Given the description of an element on the screen output the (x, y) to click on. 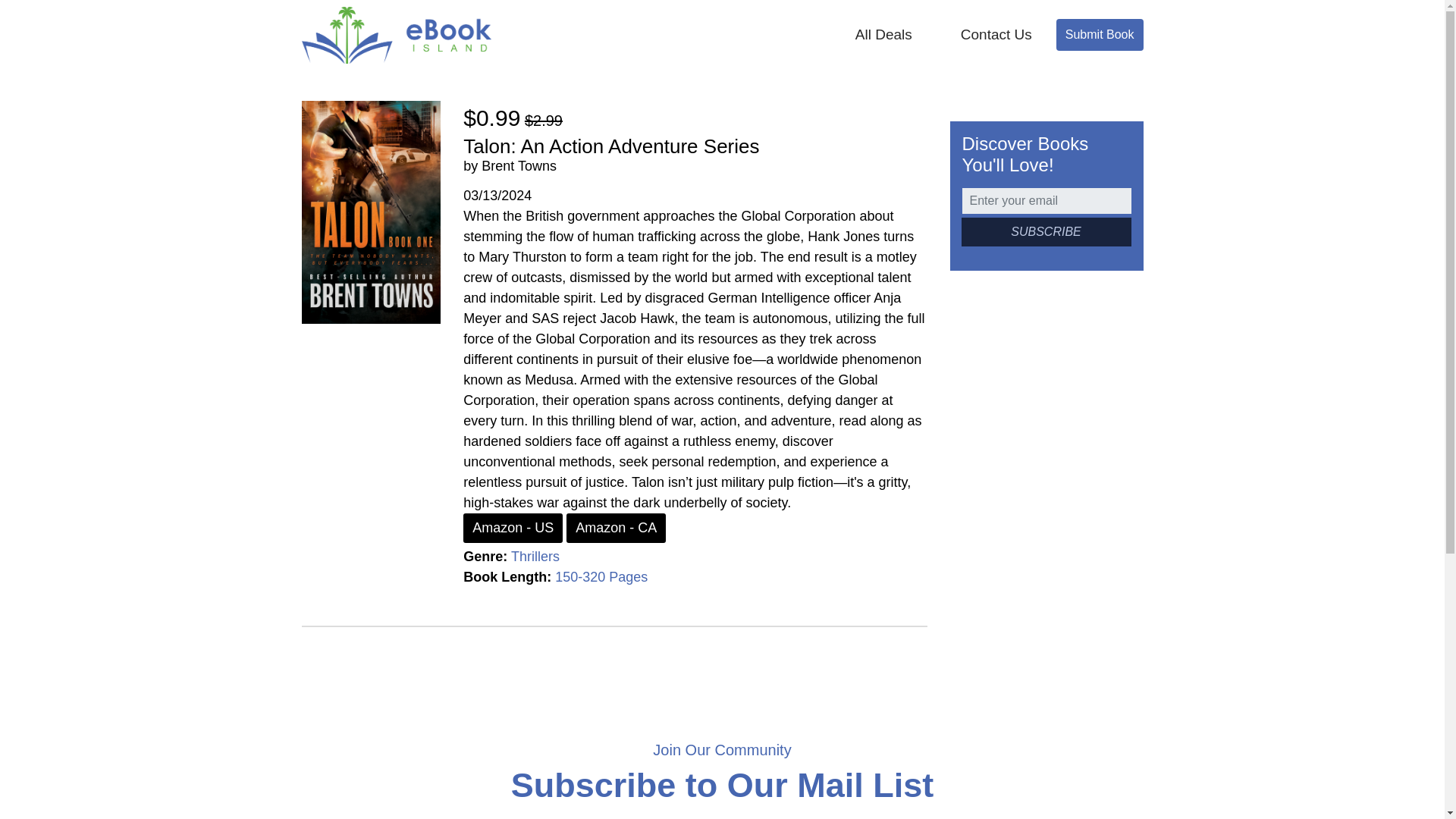
Thrillers (535, 556)
Subscribe (1045, 231)
Submit Book (1099, 34)
Amazon - CA (615, 527)
Subscribe (1045, 231)
Talon: An Action Adventure Series (610, 146)
All Deals (883, 35)
Contact Us (995, 35)
150-320 Pages (600, 576)
Amazon - US (512, 527)
